Given the description of an element on the screen output the (x, y) to click on. 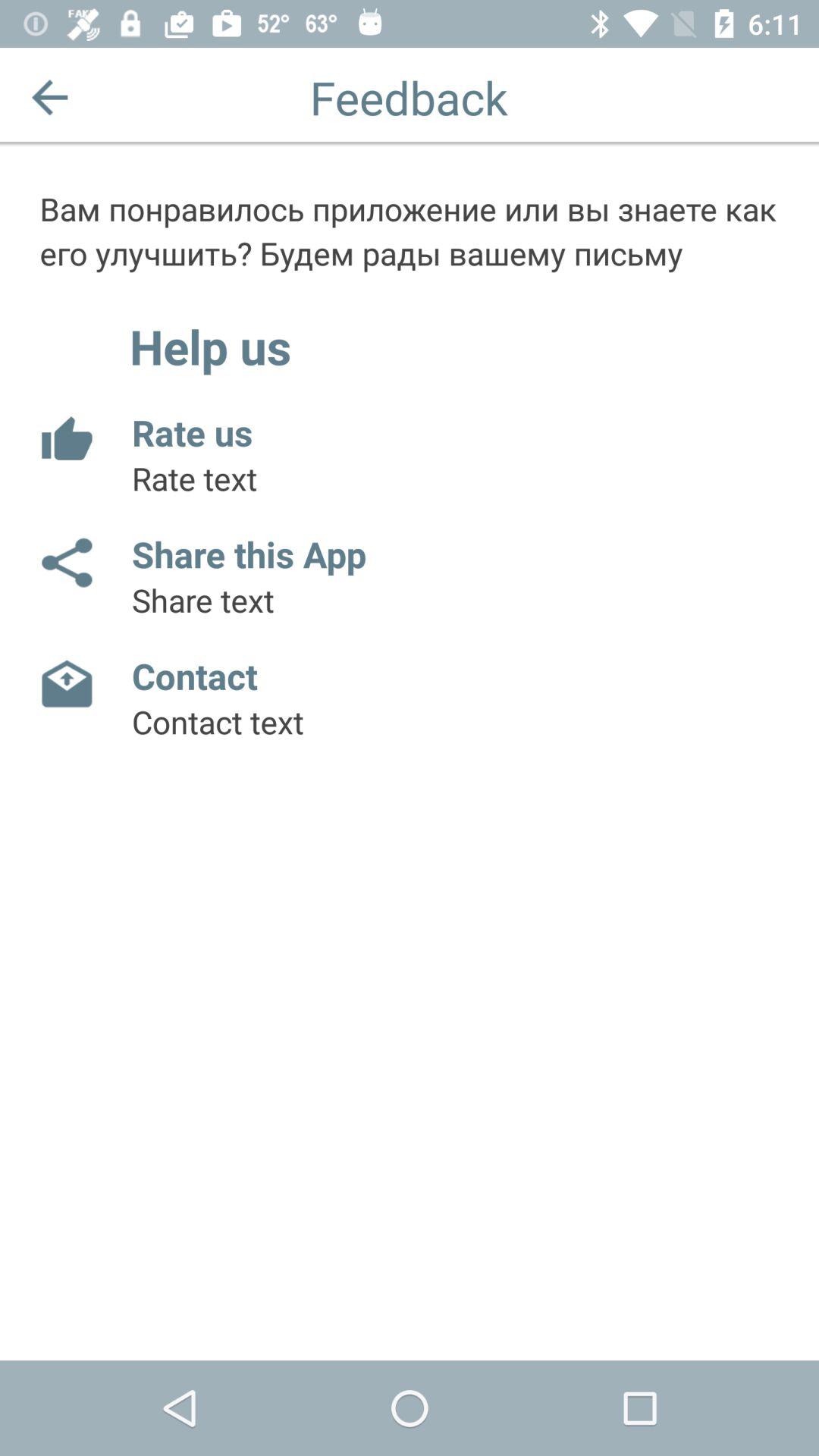
select app next to the contact (65, 684)
